Given the description of an element on the screen output the (x, y) to click on. 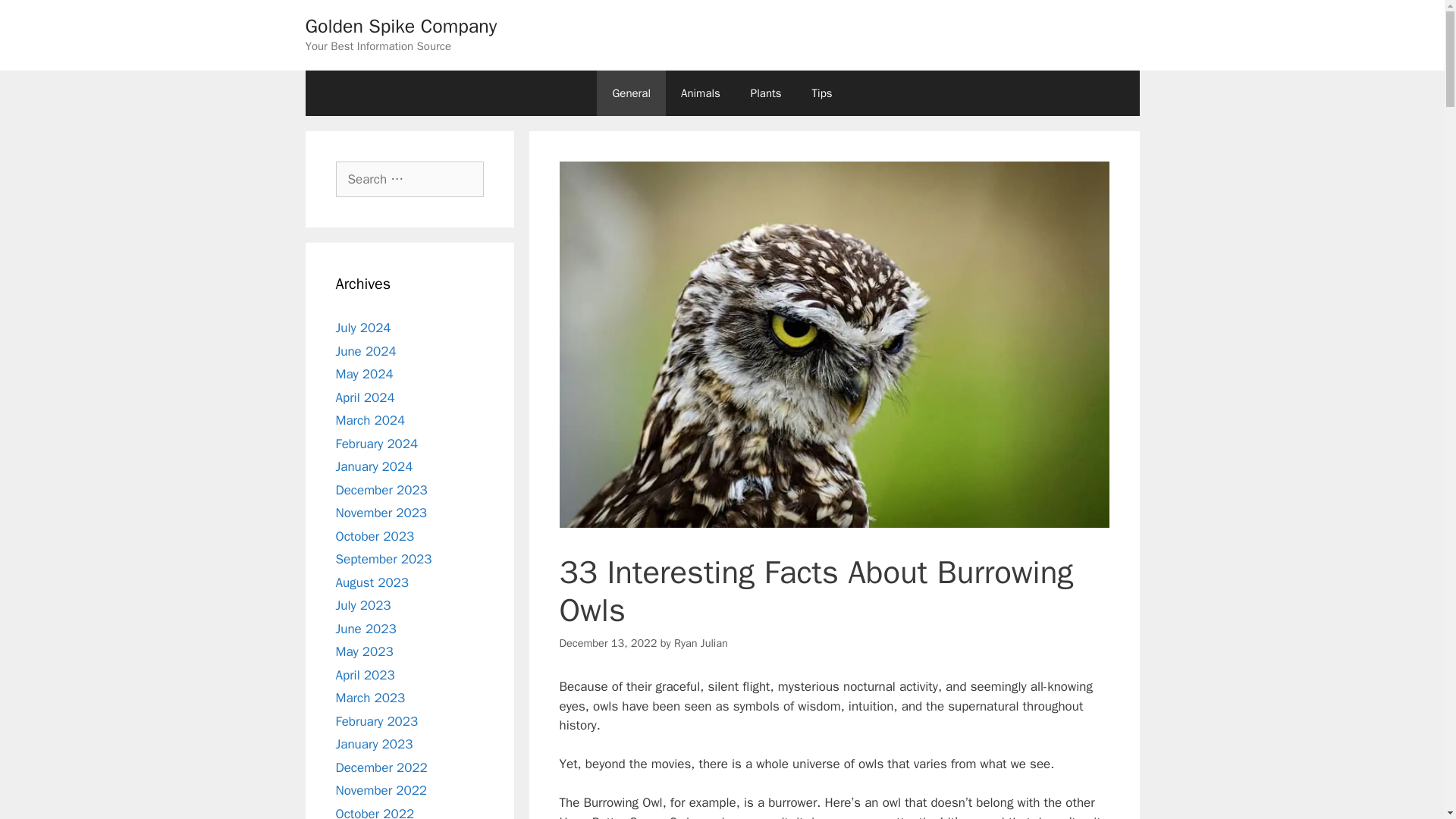
March 2023 (369, 697)
January 2024 (373, 466)
June 2023 (365, 627)
Plants (765, 92)
October 2023 (373, 535)
February 2024 (375, 442)
General (630, 92)
December 2023 (380, 489)
View all posts by Ryan Julian (701, 643)
July 2024 (362, 327)
August 2023 (370, 582)
April 2024 (364, 397)
Ryan Julian (701, 643)
June 2024 (365, 350)
May 2024 (363, 374)
